Given the description of an element on the screen output the (x, y) to click on. 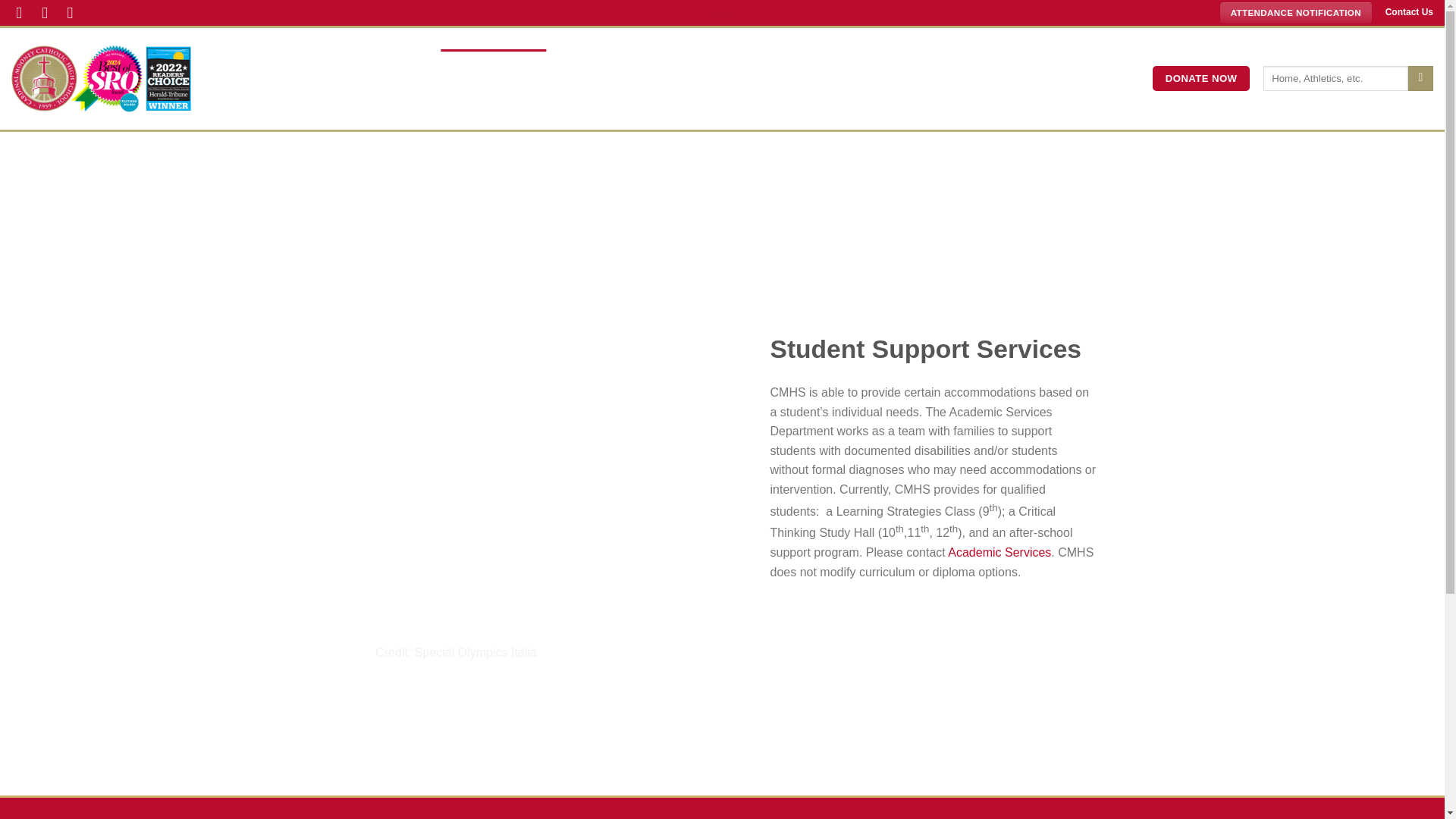
Canvas (722, 12)
ATTENDANCE NOTIFICATION (1296, 12)
Follow on YouTube (74, 12)
Follow on Instagram (50, 12)
Follow on Facebook (24, 12)
ADMISSIONS (371, 62)
ABOUT (270, 62)
ACADEMICS (494, 62)
Contact Us (1409, 11)
ATHLETICS (609, 62)
